Given the description of an element on the screen output the (x, y) to click on. 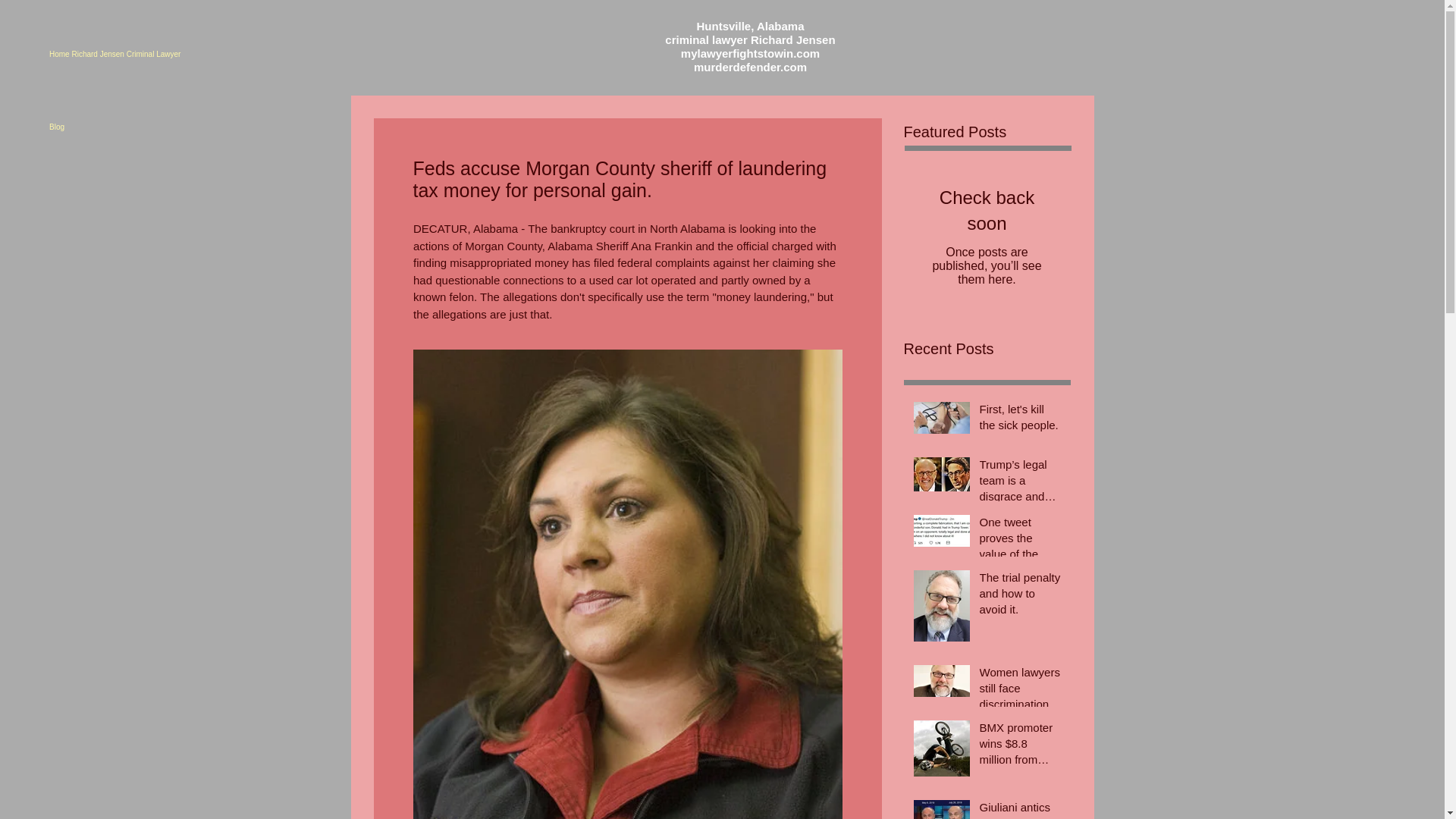
Blog (221, 126)
First, let's kill the sick people. (1020, 419)
Giuliani antics lead to Shakespearean downfall (1020, 809)
Women lawyers still face discrimination (1020, 691)
Home Richard Jensen Criminal Lawyer (221, 54)
The trial penalty and how to avoid it. (1020, 596)
